Given the description of an element on the screen output the (x, y) to click on. 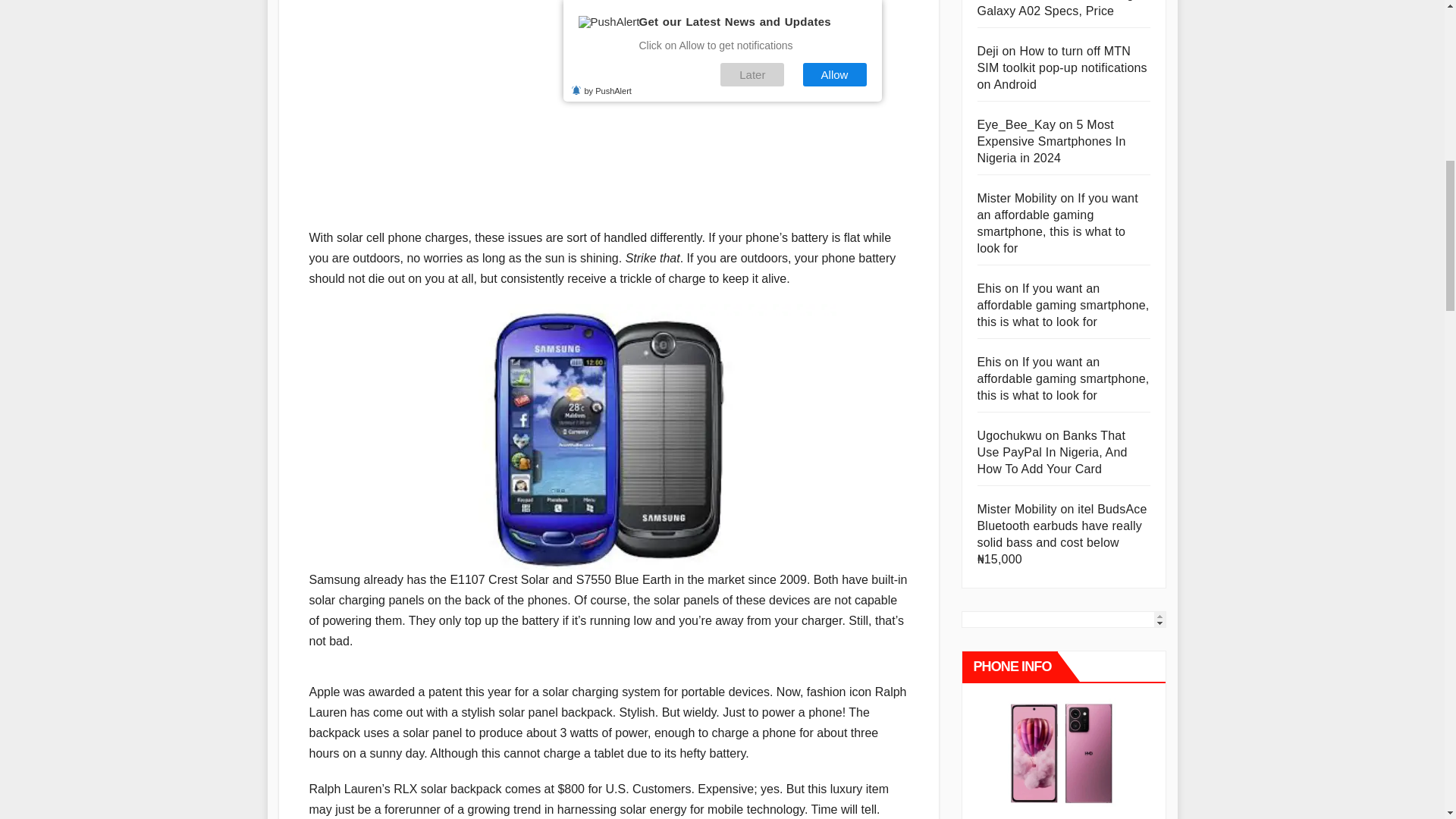
Advertisement (608, 106)
samsung solar (607, 436)
